Given the description of an element on the screen output the (x, y) to click on. 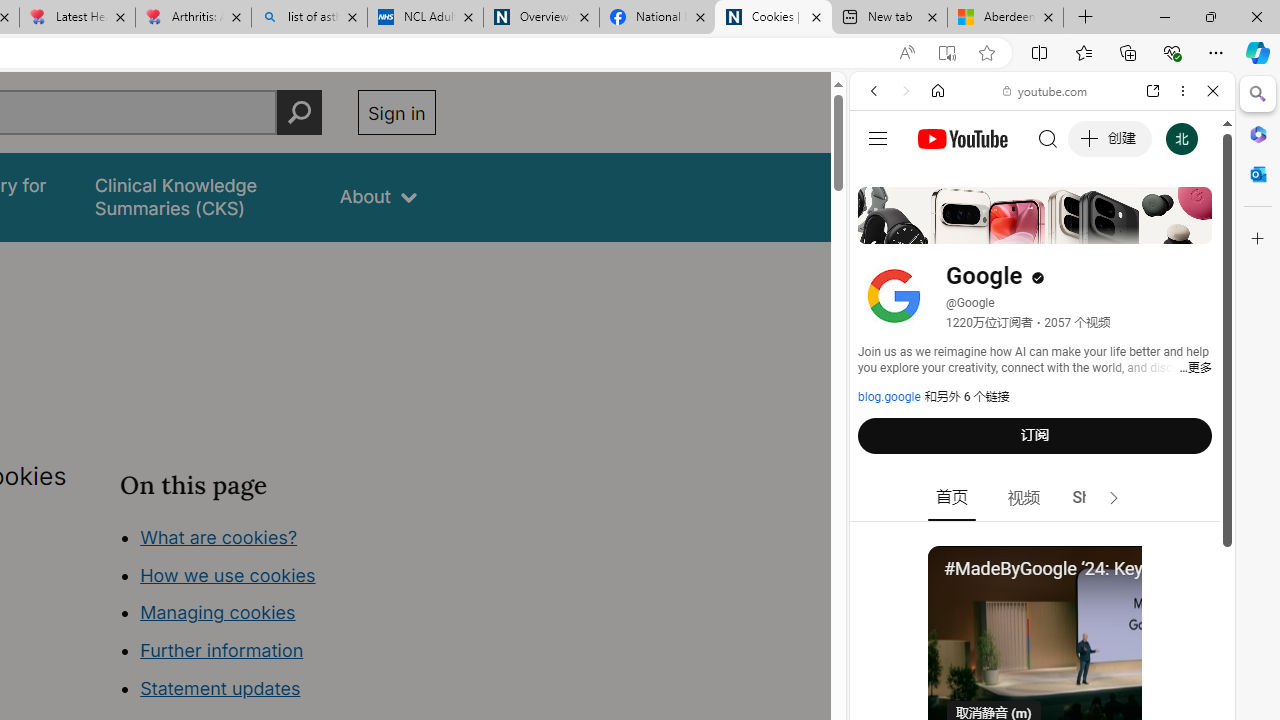
Close Outlook pane (1258, 174)
Arthritis: Ask Health Professionals (192, 17)
Forward (906, 91)
Trailer #2 [HD] (1042, 592)
Search Filter, Search Tools (1093, 228)
How we use cookies (227, 574)
Google (1042, 494)
Google (1042, 494)
Managing cookies (217, 612)
